Given the description of an element on the screen output the (x, y) to click on. 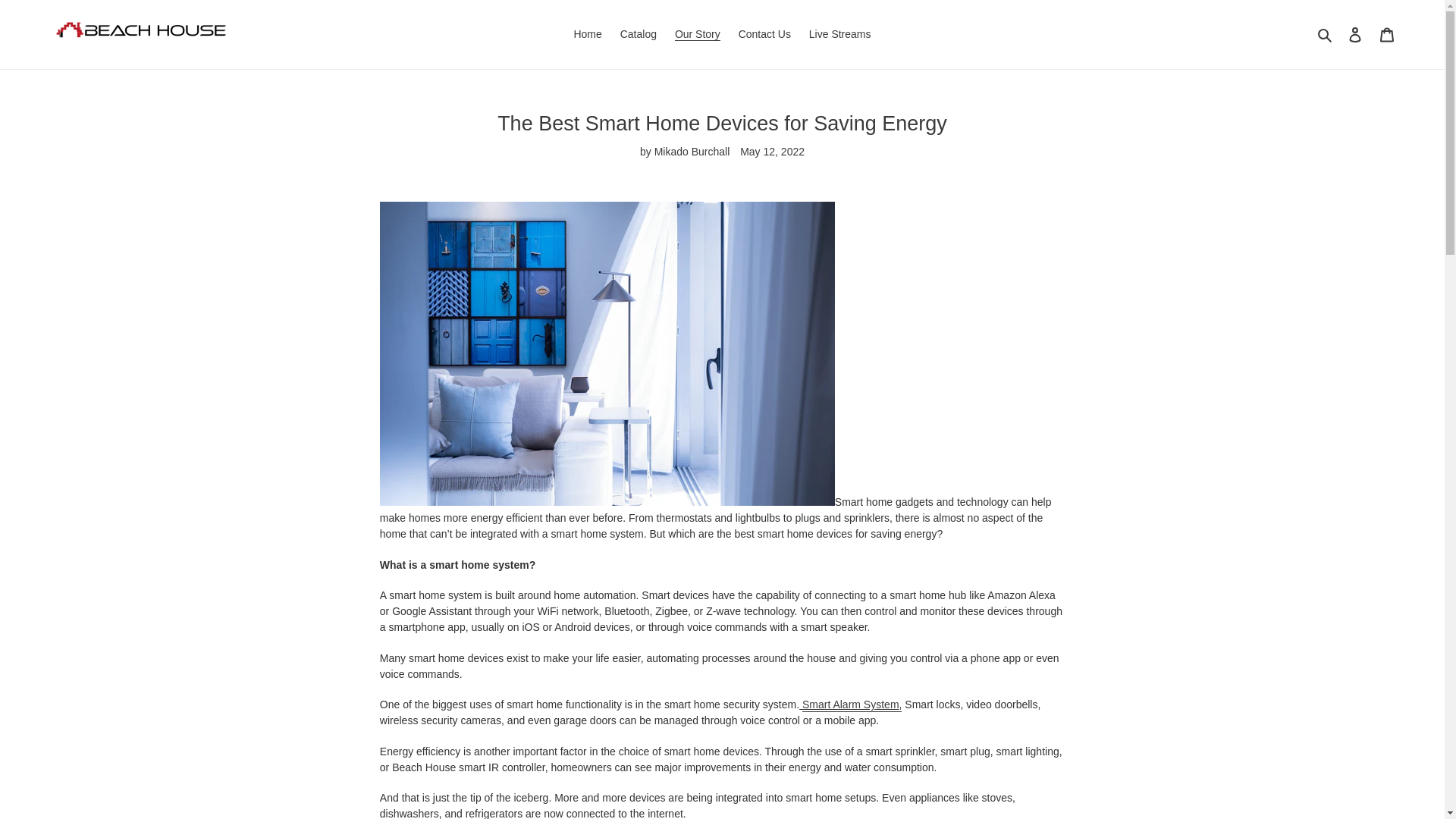
Log in (1355, 33)
Smart Alarm System (850, 704)
Our Story (697, 34)
Smart Alarm System (850, 704)
Home (587, 34)
Live Streams (840, 34)
Contact Us (763, 34)
Catalog (637, 34)
Cart (1387, 33)
Search (1326, 34)
